Given the description of an element on the screen output the (x, y) to click on. 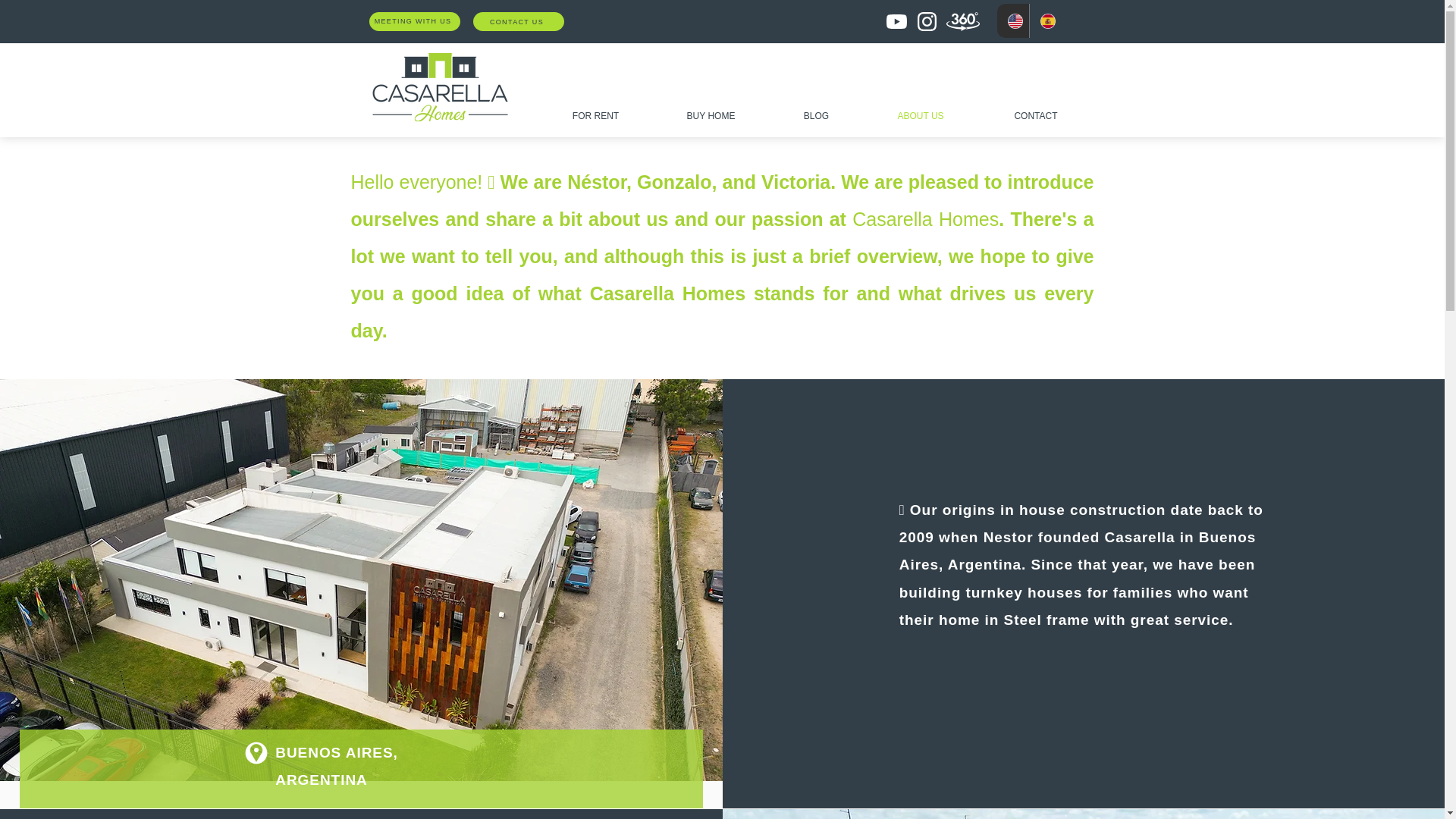
FOR RENT (595, 116)
BUY HOME (710, 116)
MEETING WITH US (414, 21)
ABOUT US (919, 116)
CONTACT US (518, 21)
BLOG (815, 116)
CONTACT (1036, 116)
